Given the description of an element on the screen output the (x, y) to click on. 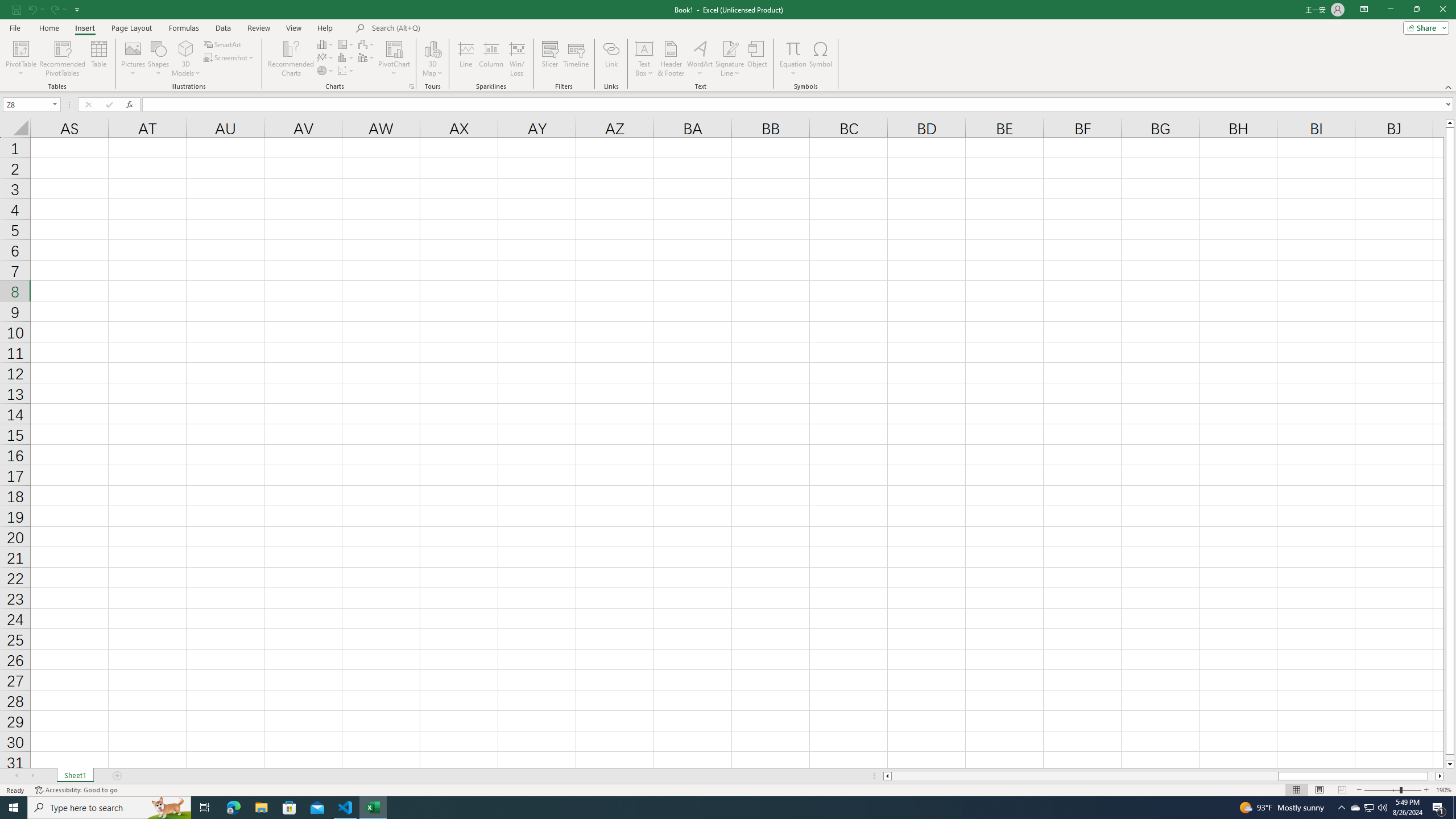
3D Models (186, 48)
Signature Line (729, 48)
Insert Line or Area Chart (325, 56)
Recommended PivotTables (62, 58)
3D Map (432, 48)
Insert Column or Bar Chart (325, 44)
